Given the description of an element on the screen output the (x, y) to click on. 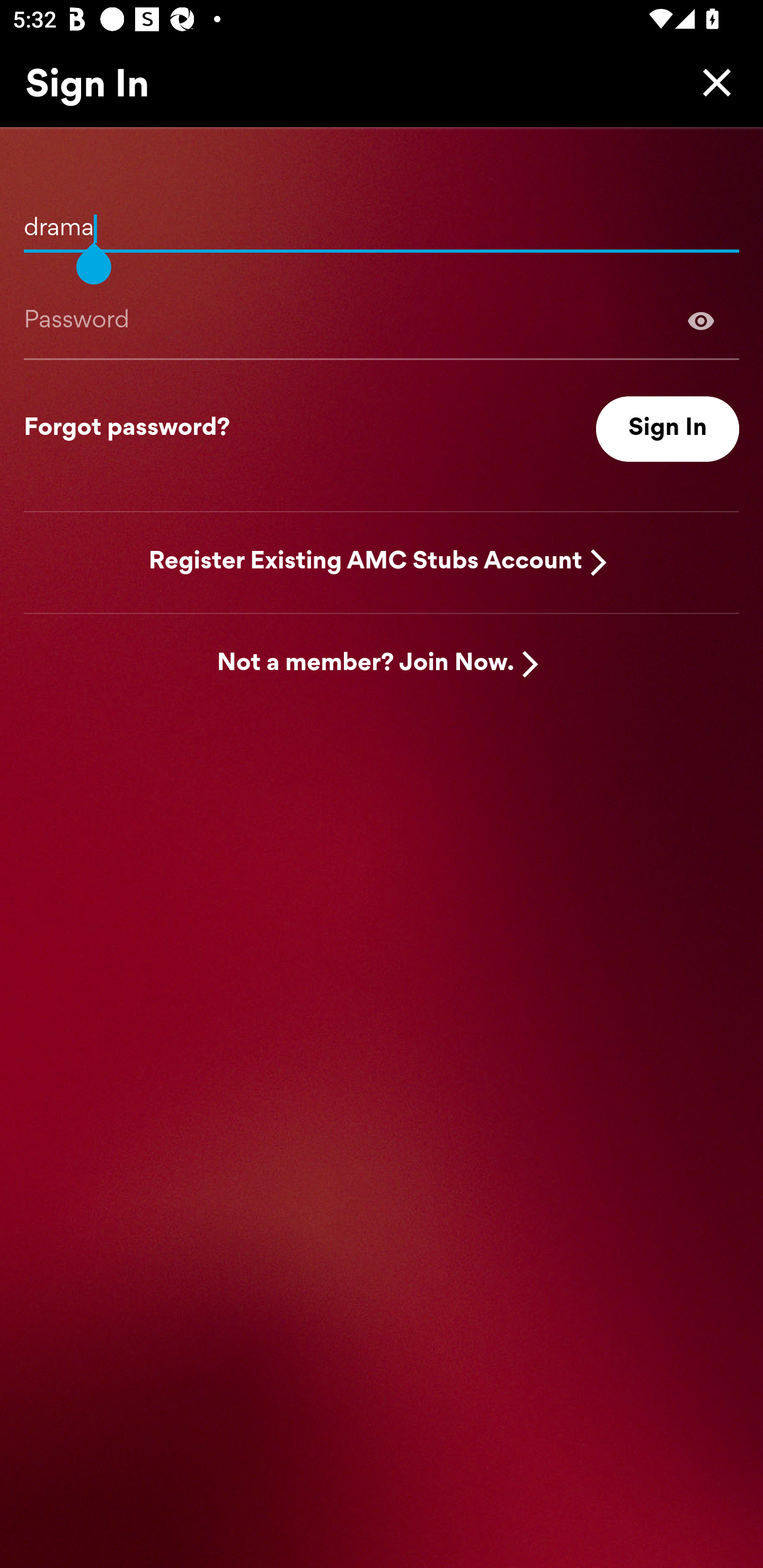
Close (712, 82)
drama (381, 220)
Show Password (381, 320)
Show Password (701, 320)
Forgot password? (126, 428)
Sign In (667, 428)
Register Existing AMC Stubs Account (365, 561)
Not a member? Join Now. (365, 663)
